Given the description of an element on the screen output the (x, y) to click on. 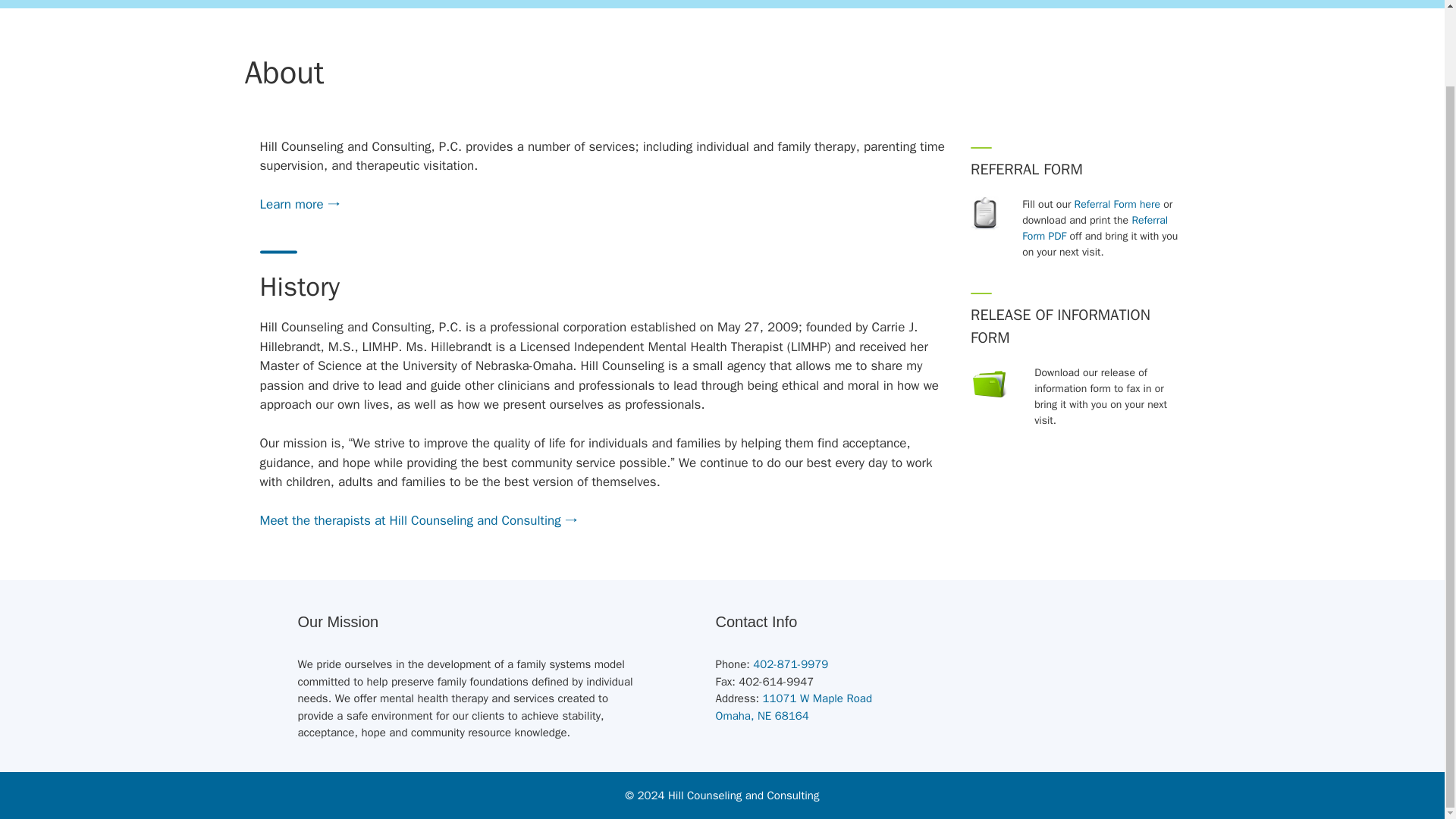
Referral Form PDF (1094, 227)
Referral Form here (794, 706)
402-871-9979 (1117, 204)
